Given the description of an element on the screen output the (x, y) to click on. 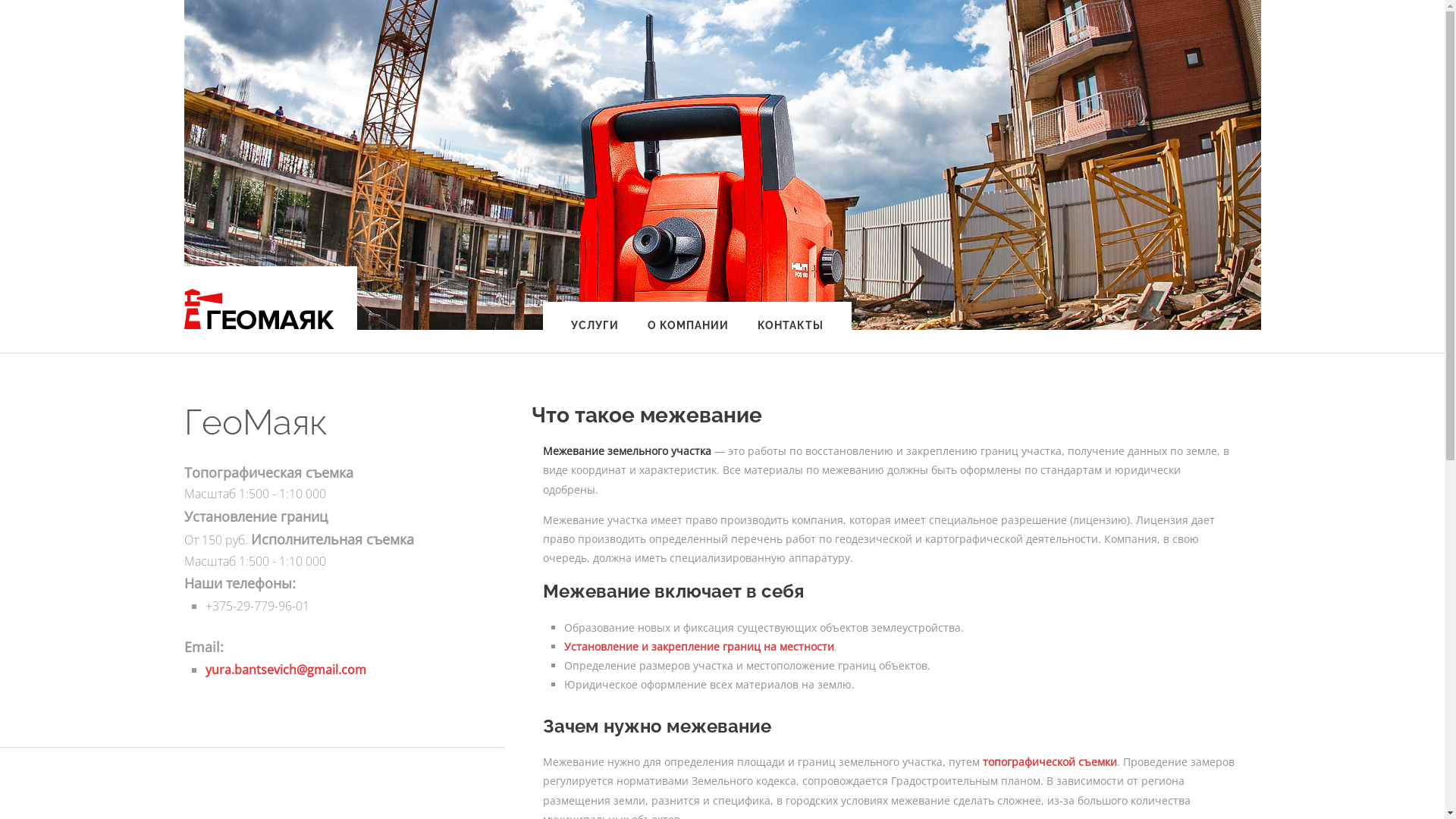
yura.bantsevich@gmail.com Element type: text (284, 669)
